Given the description of an element on the screen output the (x, y) to click on. 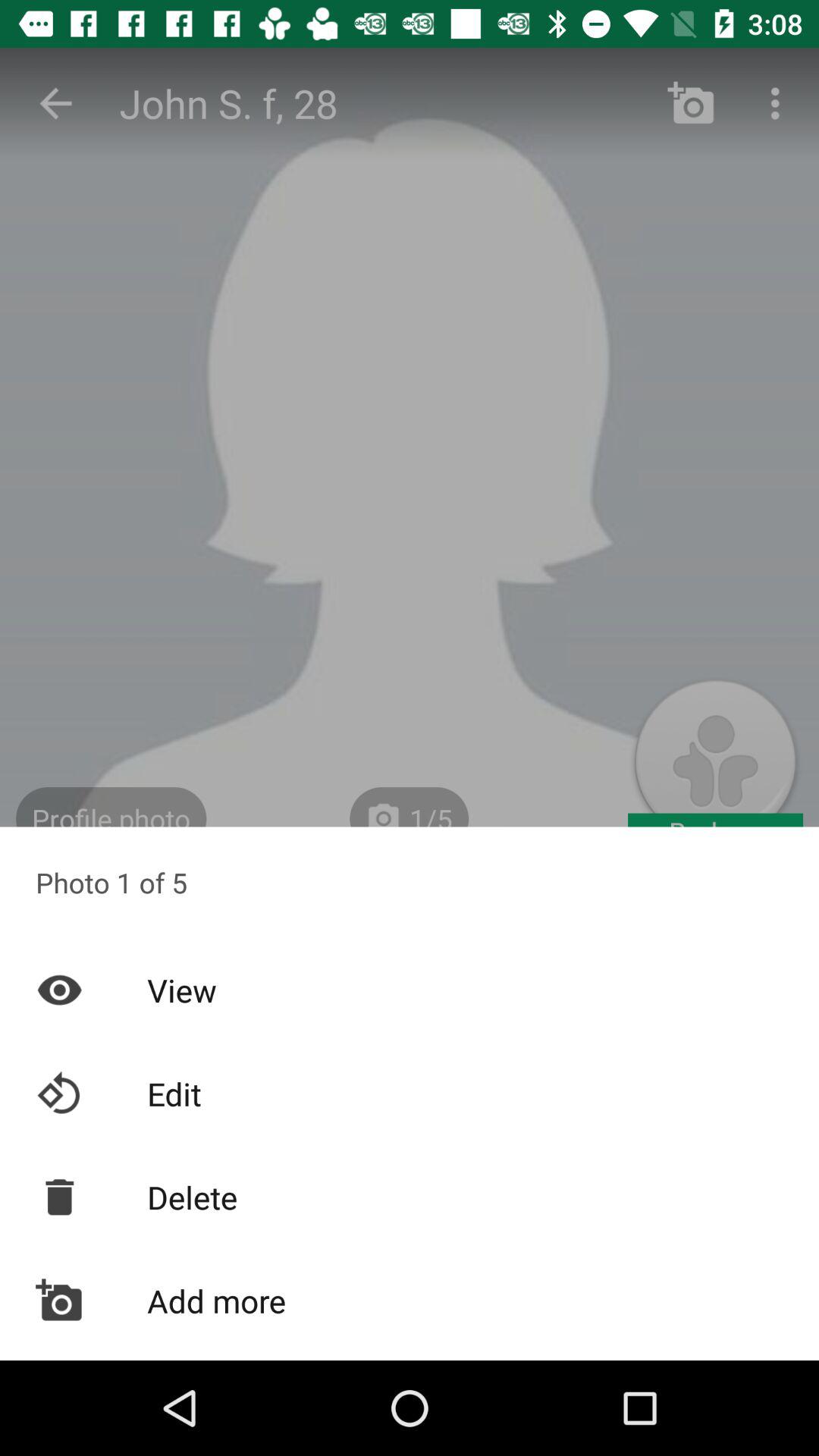
turn on the icon above edit (409, 989)
